Given the description of an element on the screen output the (x, y) to click on. 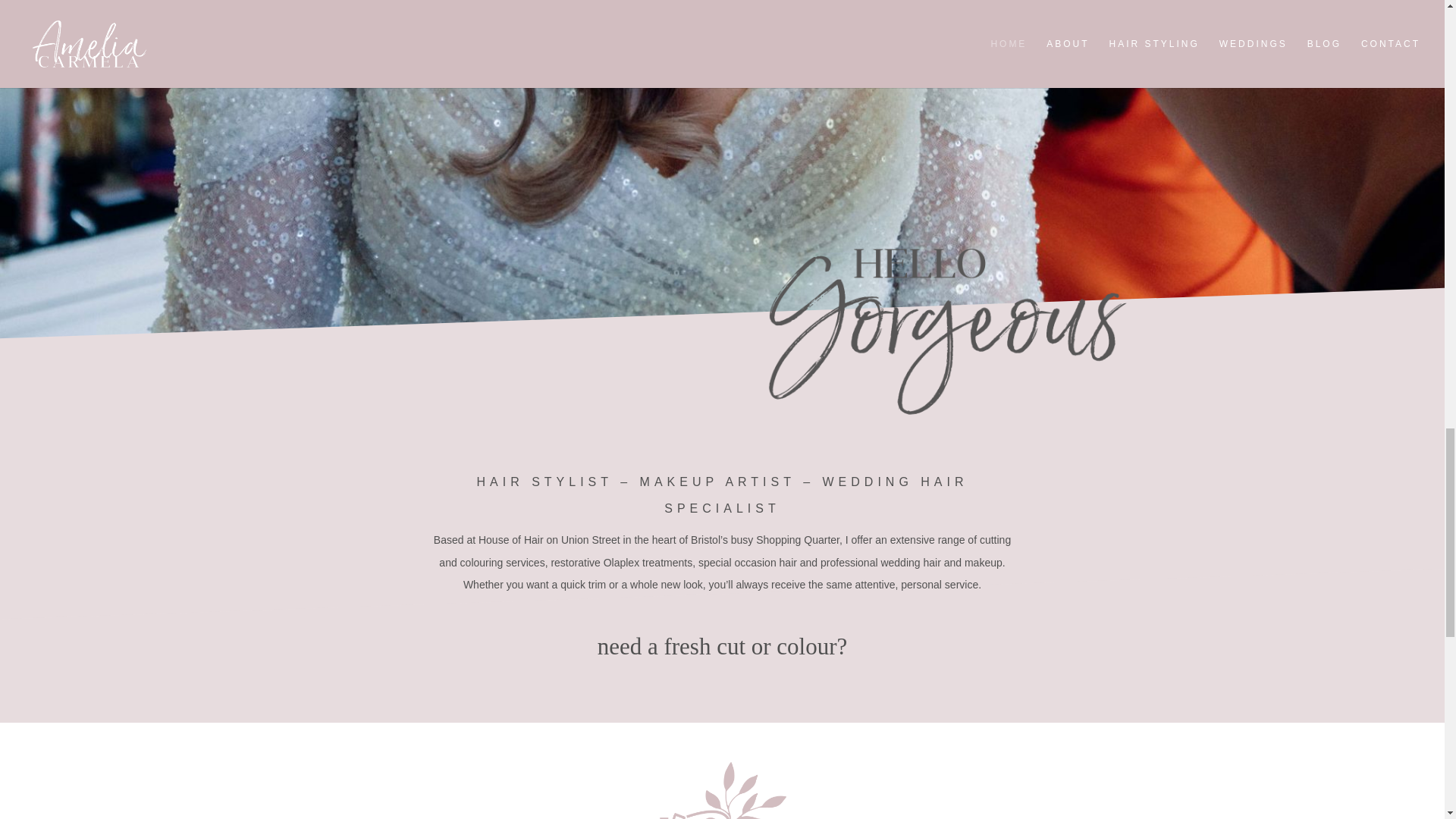
need a fresh cut or colour? (721, 646)
